Given the description of an element on the screen output the (x, y) to click on. 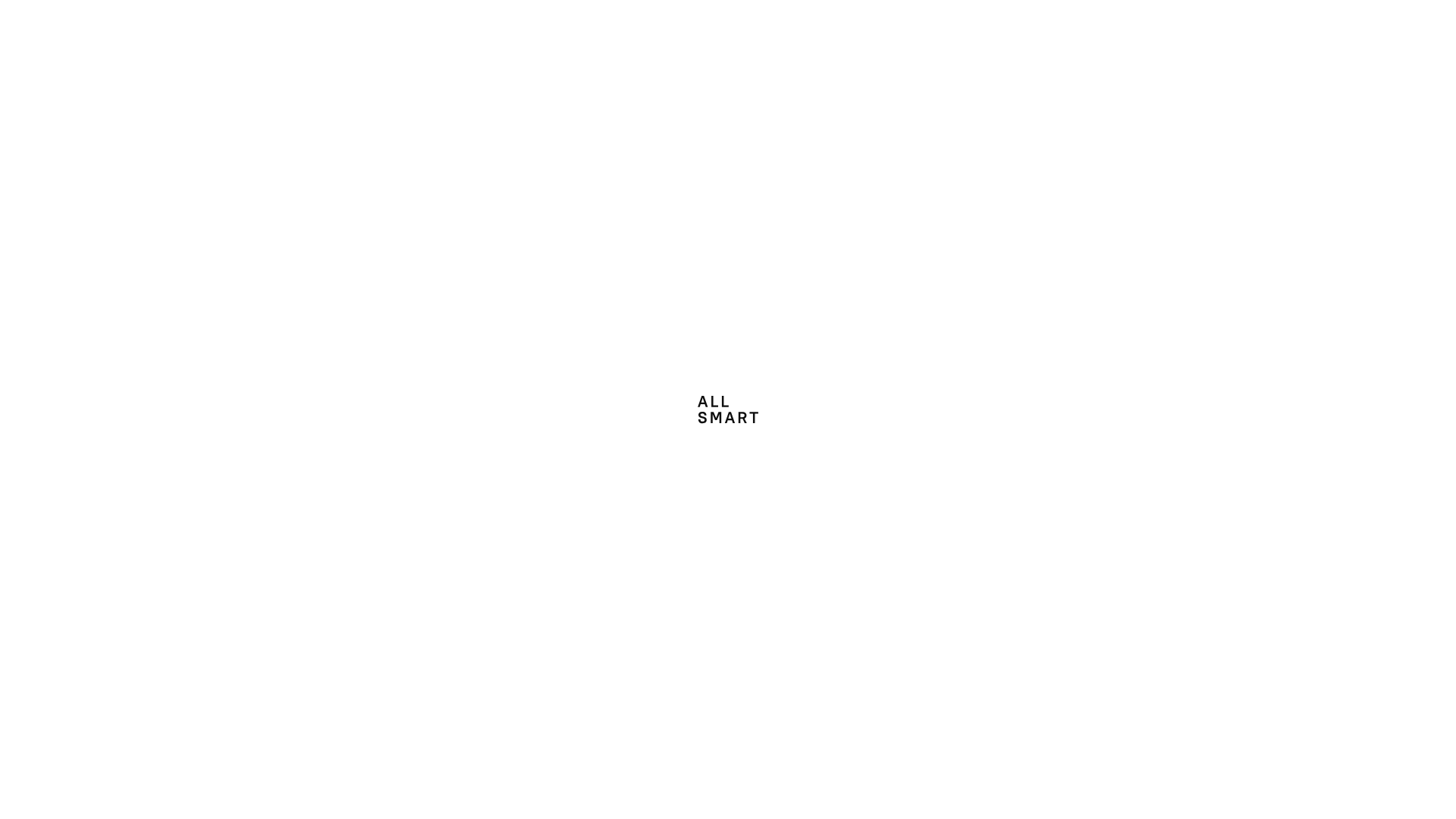
+375 (29) 106-44-22 Element type: text (306, 580)
info@allsmart.by Element type: text (277, 603)
+375 (29) 106-44-22 Element type: text (1167, 18)
